Given the description of an element on the screen output the (x, y) to click on. 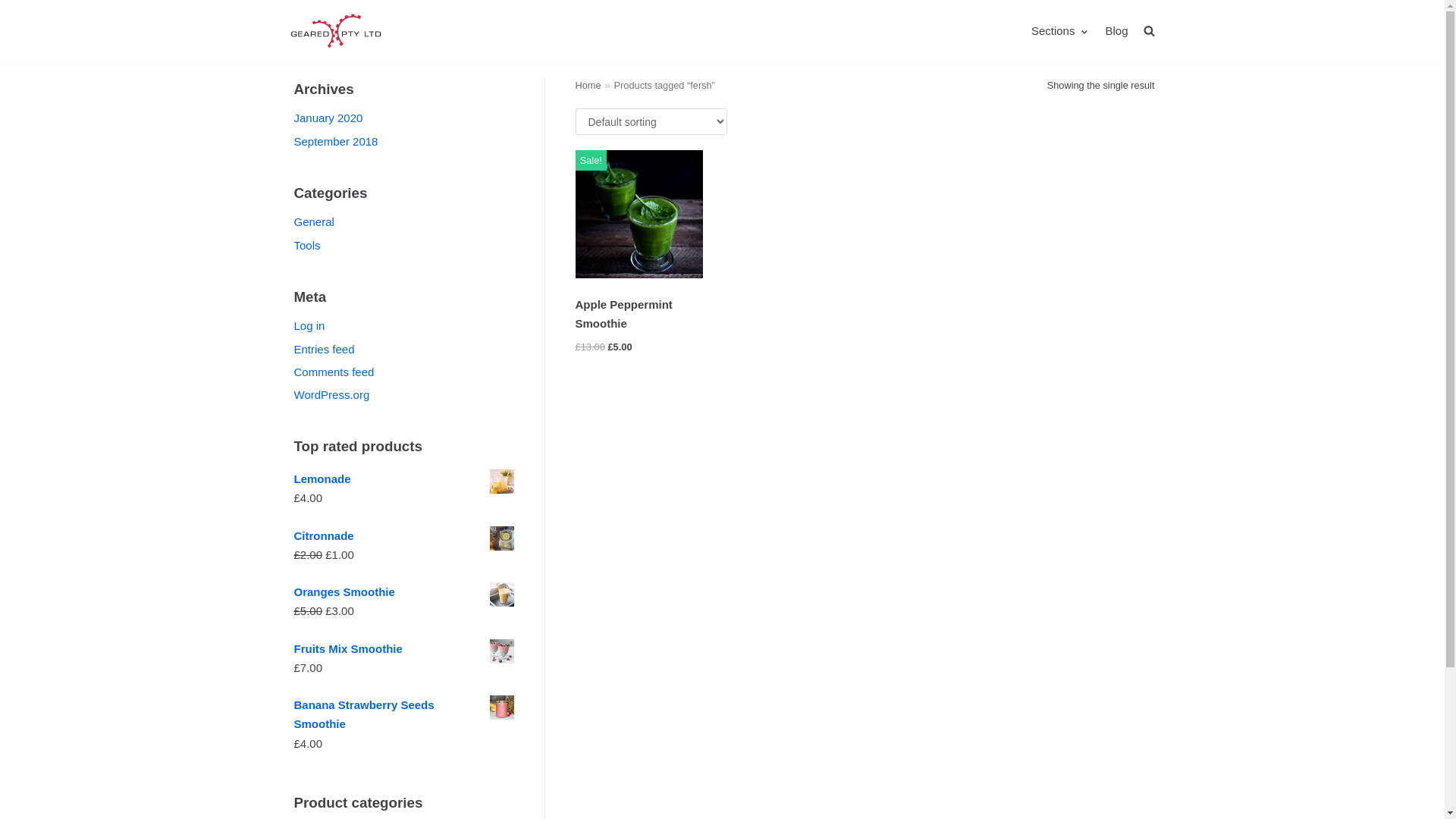
Entries feed Element type: text (324, 348)
Comments feed Element type: text (334, 371)
Tools Element type: text (307, 244)
Oranges Smoothie Element type: text (404, 591)
Skip to content Element type: text (15, 7)
Citronnade Element type: text (404, 535)
Lemonade Element type: text (404, 478)
WordPress.org Element type: text (332, 394)
Sections Element type: text (1060, 30)
Search Element type: text (1122, 63)
September 2018 Element type: text (336, 140)
Fruits Mix Smoothie Element type: text (404, 647)
Geared Element type: hover (334, 30)
Home Element type: text (587, 85)
Log in Element type: text (309, 325)
Banana Strawberry Seeds Smoothie Element type: text (404, 714)
Blog Element type: text (1115, 30)
January 2020 Element type: text (328, 117)
General Element type: text (314, 221)
